Given the description of an element on the screen output the (x, y) to click on. 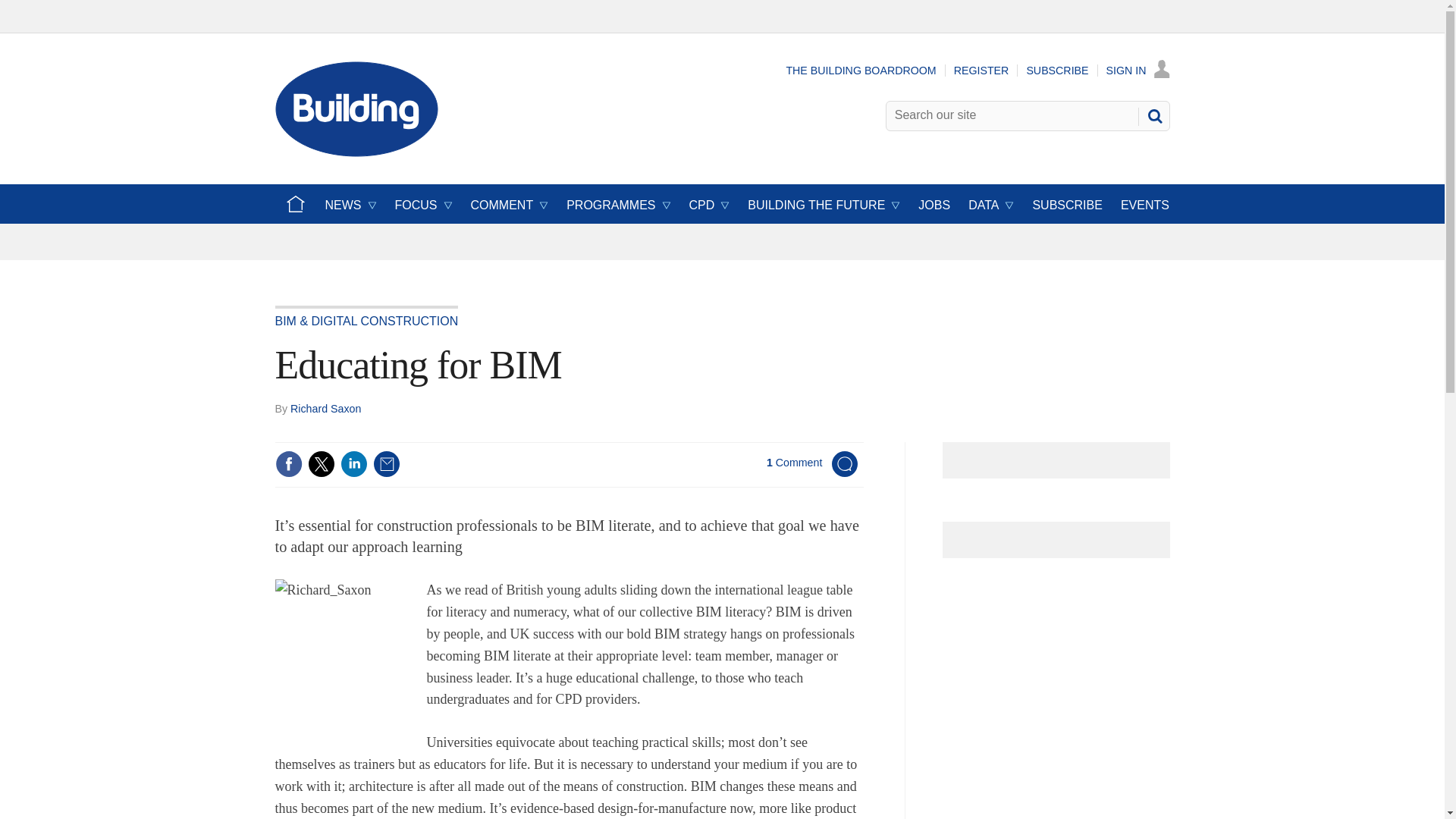
Share this on Twitter (320, 463)
SIGN IN (1138, 70)
THE BUILDING BOARDROOM (861, 70)
Email this article (386, 463)
REGISTER (981, 70)
1 Comment (813, 473)
Share this on Facebook (288, 463)
Insert Logo text (356, 152)
SEARCH (1153, 115)
Share this on Linked in (352, 463)
SUBSCRIBE (1056, 70)
